Given the description of an element on the screen output the (x, y) to click on. 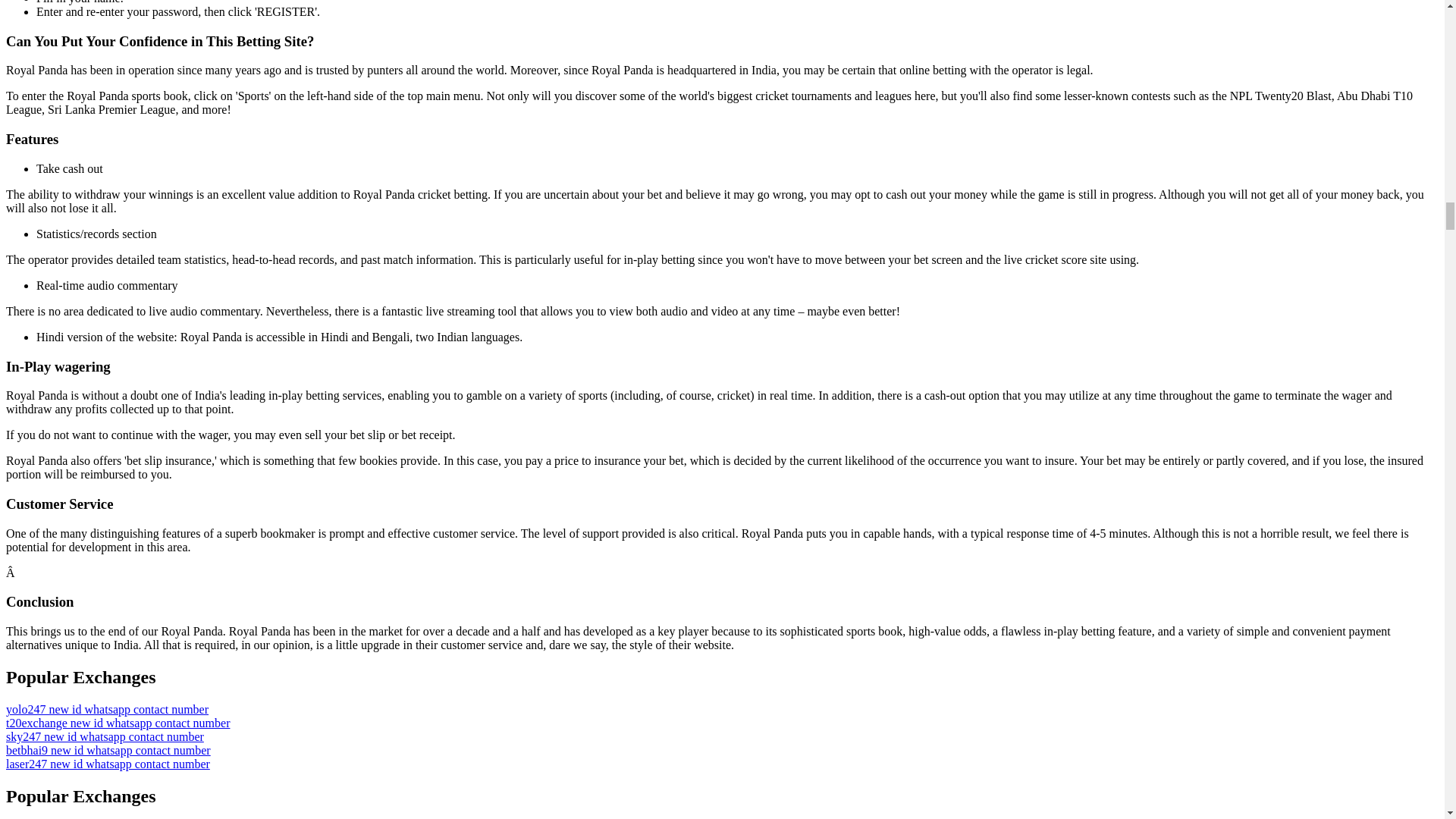
sky247 new id whatsapp contact number (104, 736)
betbhai9 new id whatsapp contact number (108, 749)
laser247 new id whatsapp contact number (107, 763)
yolo247 new id whatsapp contact number (106, 708)
t20exchange new id whatsapp contact number (117, 722)
